Given the description of an element on the screen output the (x, y) to click on. 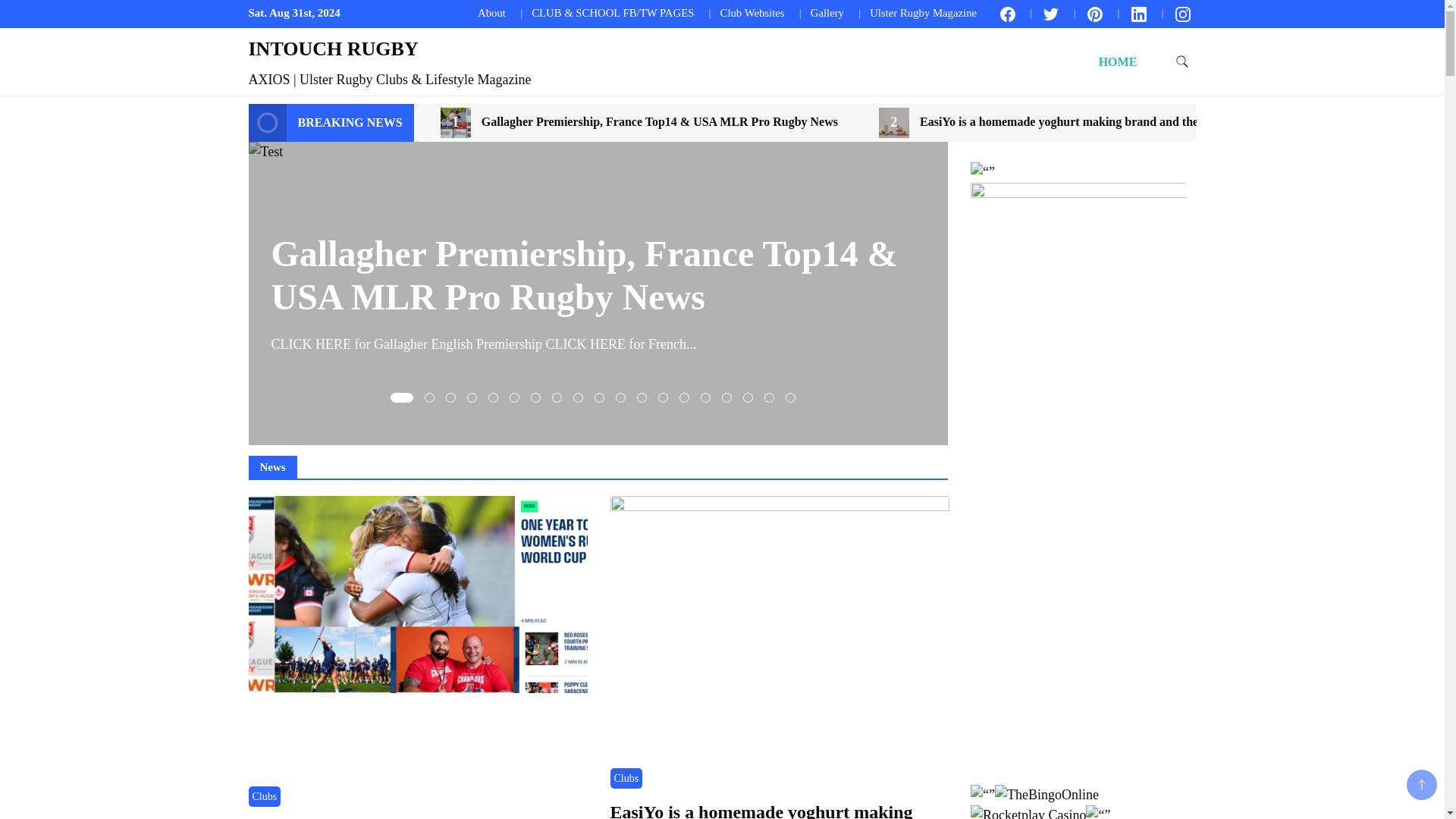
INTOUCH RUGBY (333, 48)
Ulster Rugby Magazine (922, 12)
About (491, 12)
Club Websites (752, 12)
Gallery (827, 12)
HOME (1118, 61)
Rocketplay Casino (1028, 812)
TheBingoOnline (1046, 794)
